Given the description of an element on the screen output the (x, y) to click on. 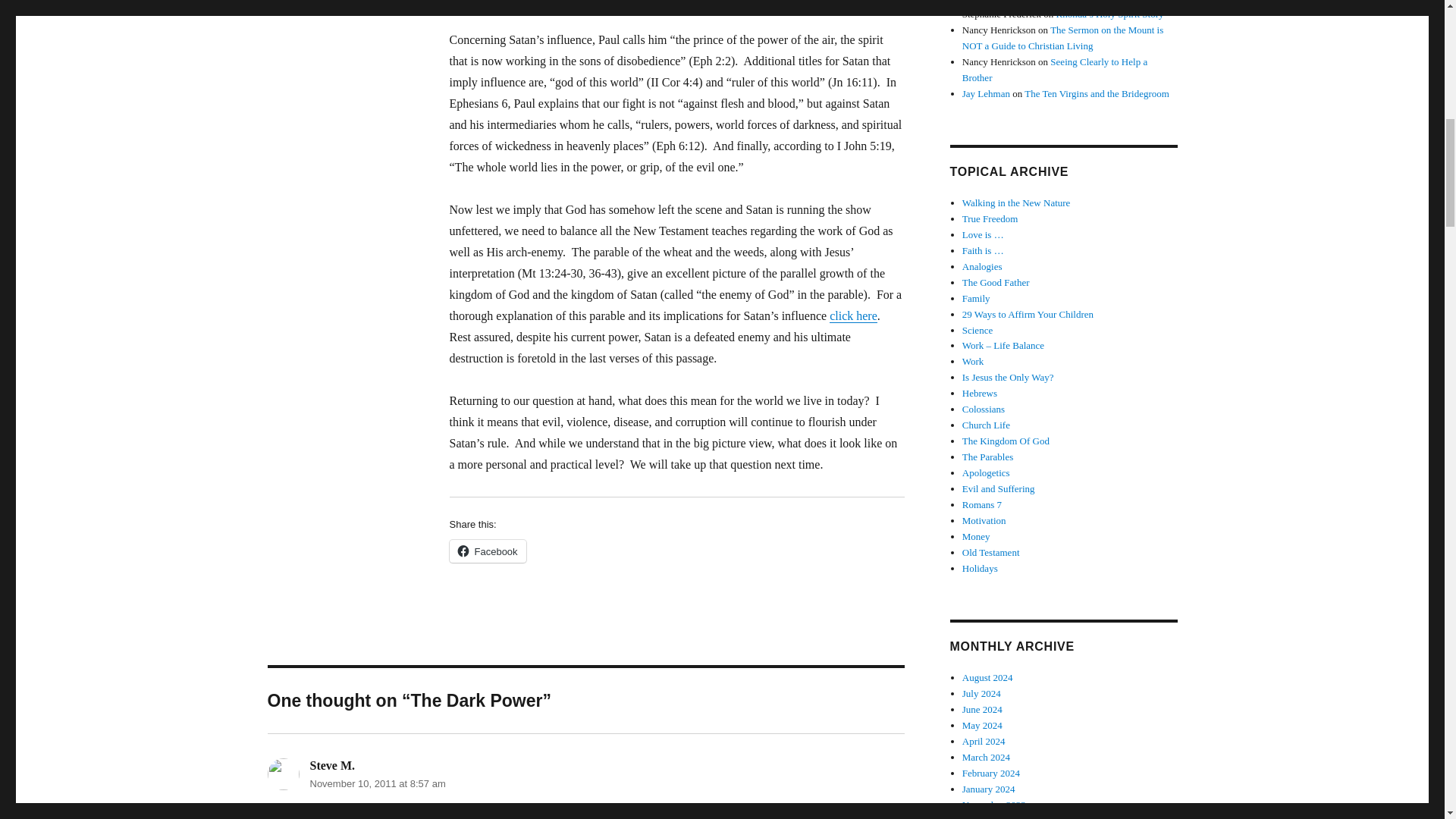
The Ten Virgins and the Bridegroom (1097, 93)
Walking in the New Nature (1016, 202)
click here (853, 315)
Seeing Clearly to Help a Brother (1054, 69)
Facebook (486, 550)
True Freedom (989, 218)
Jay Lehman (986, 93)
The Sermon on the Mount is NOT a Guide to Christian Living (1062, 37)
November 10, 2011 at 8:57 am (376, 783)
Click to share on Facebook (486, 550)
